Given the description of an element on the screen output the (x, y) to click on. 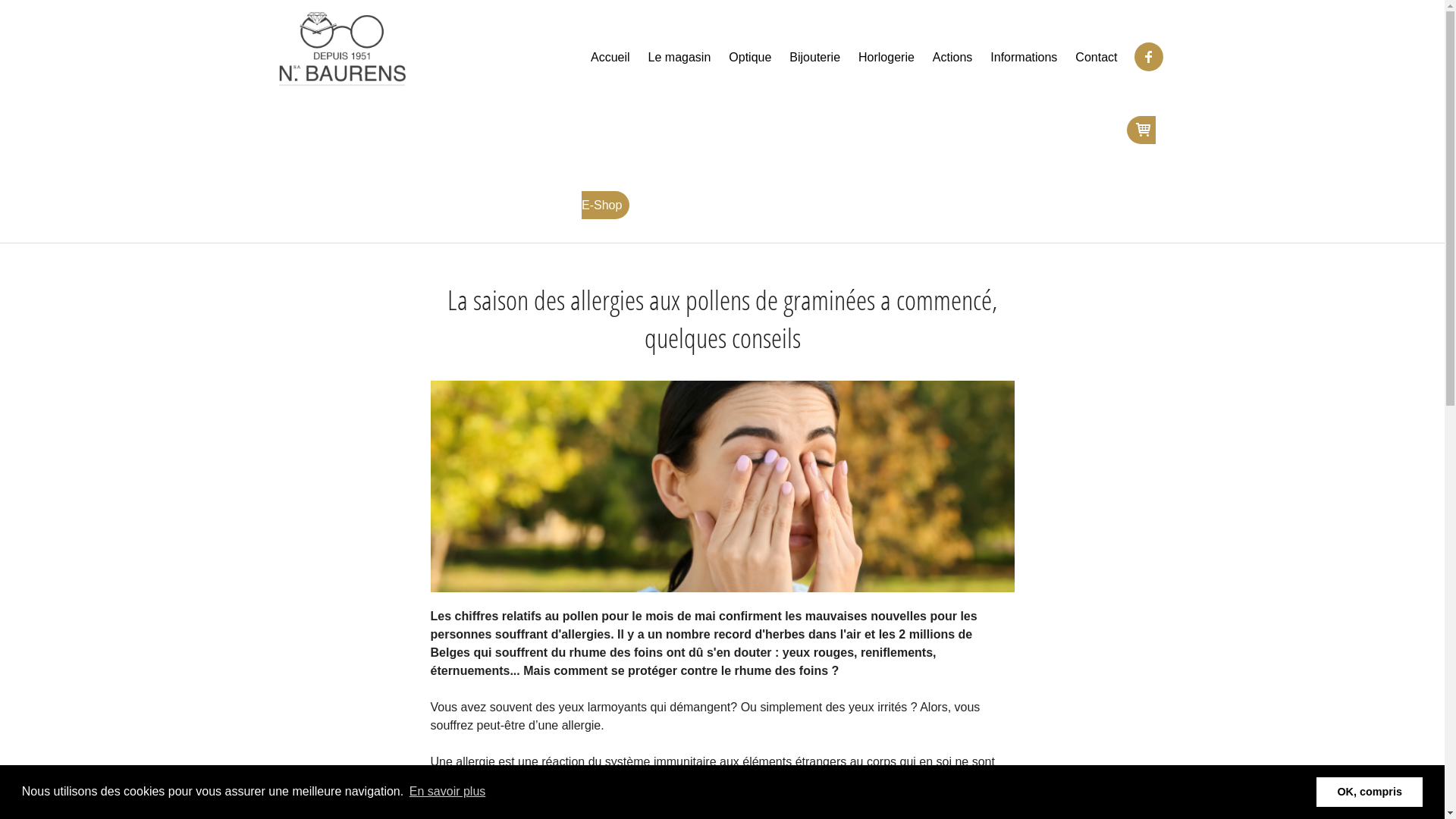
vind ons op facebook Element type: text (1148, 56)
E-Shop Element type: text (868, 167)
En savoir plus Element type: text (447, 791)
Bijouterie Element type: text (814, 56)
OK, compris Element type: text (1369, 791)
Accueil Element type: text (610, 56)
Contact Element type: text (1096, 56)
Horlogerie Element type: text (886, 56)
Aller au contenu principal Element type: text (68, 0)
Le magasin Element type: text (679, 56)
Actions Element type: text (952, 56)
Optique Baurens Element type: text (342, 48)
Optique Element type: text (749, 56)
